Given the description of an element on the screen output the (x, y) to click on. 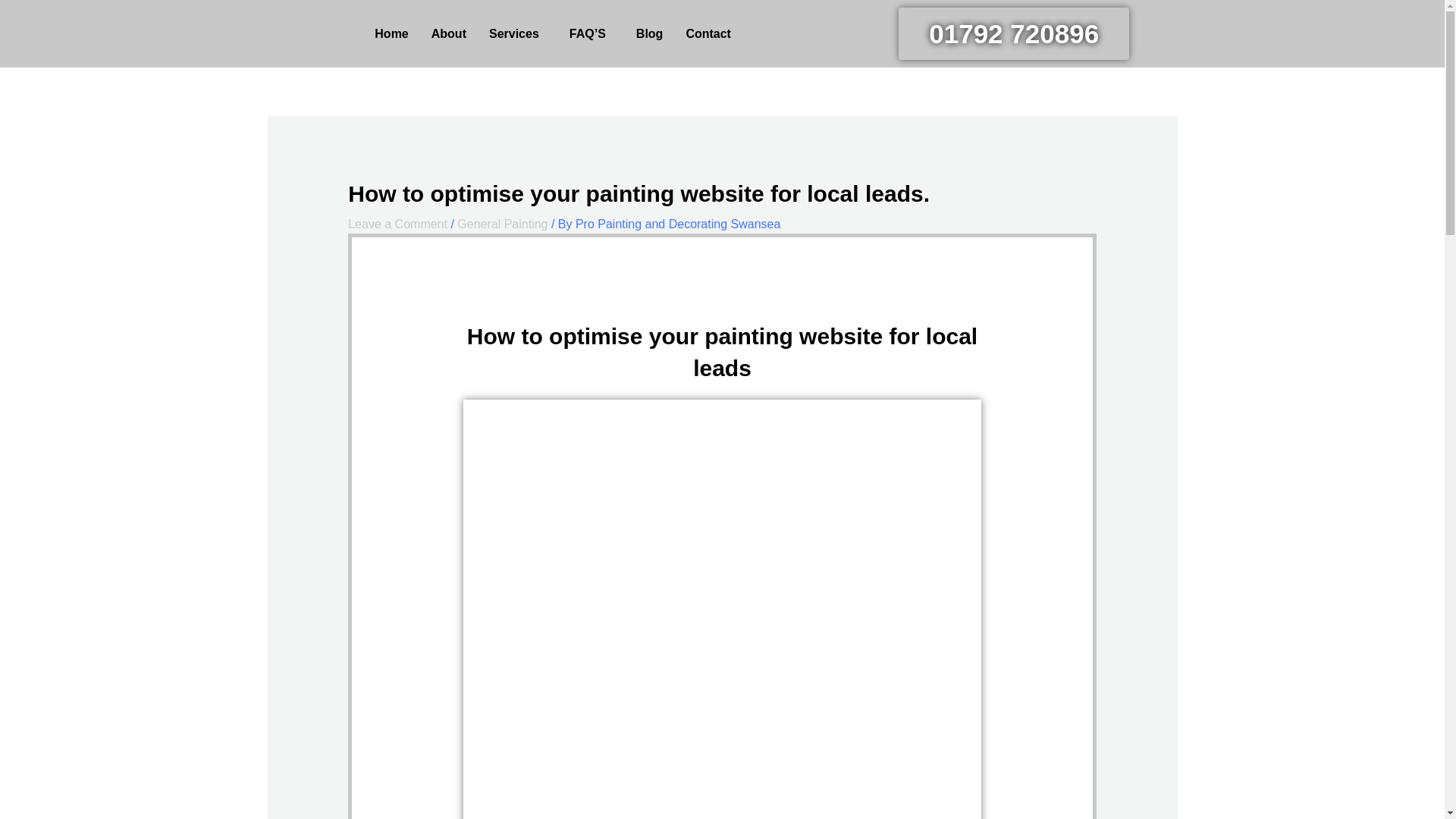
Services (517, 33)
Blog (649, 33)
Contact (708, 33)
Home (390, 33)
About (448, 33)
View all posts by Pro Painting and Decorating Swansea (677, 223)
01792 720896 (1013, 33)
